Given the description of an element on the screen output the (x, y) to click on. 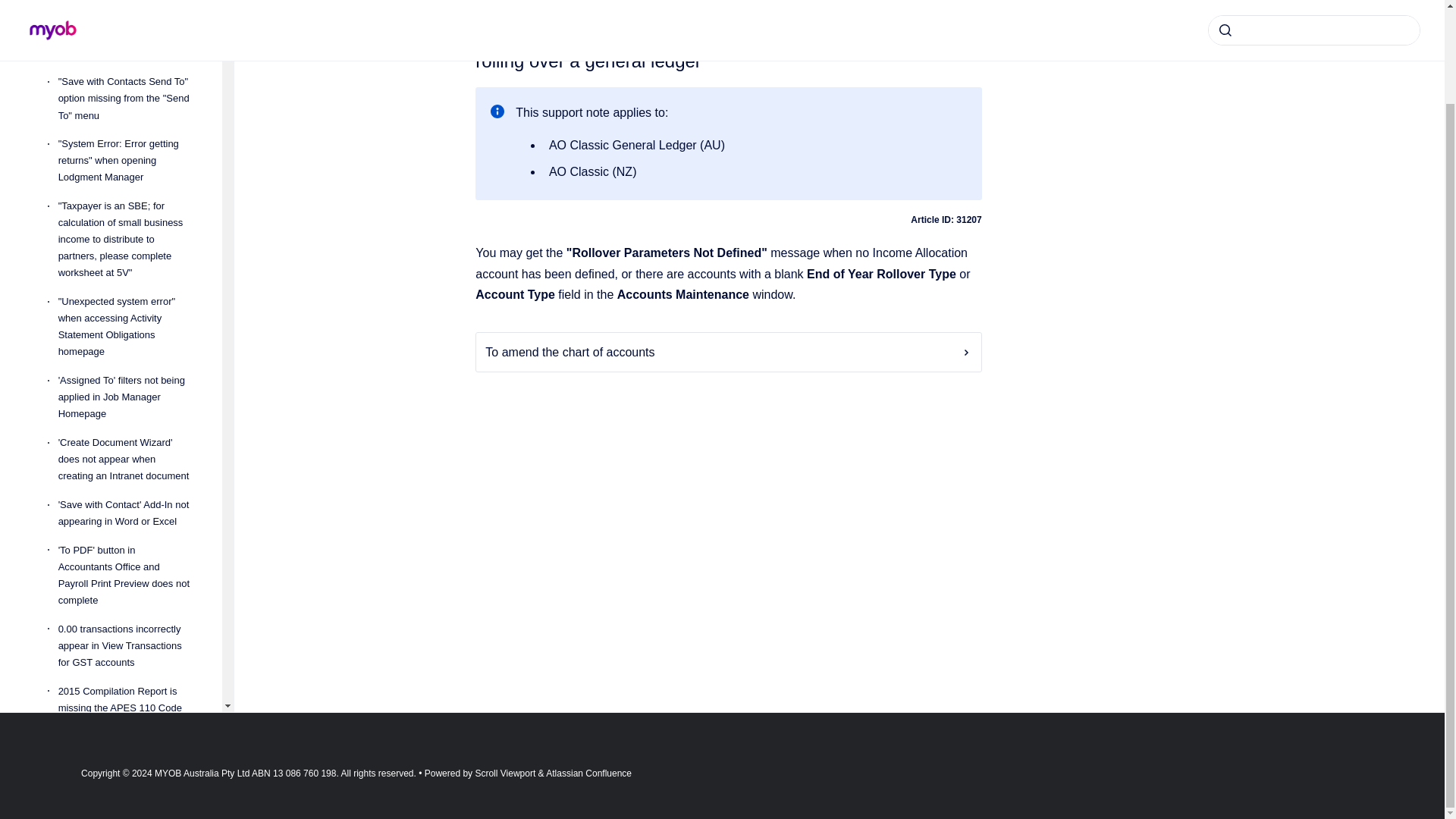
'Save with Contact' Add-In not appearing in Word or Excel (128, 513)
